Given the description of an element on the screen output the (x, y) to click on. 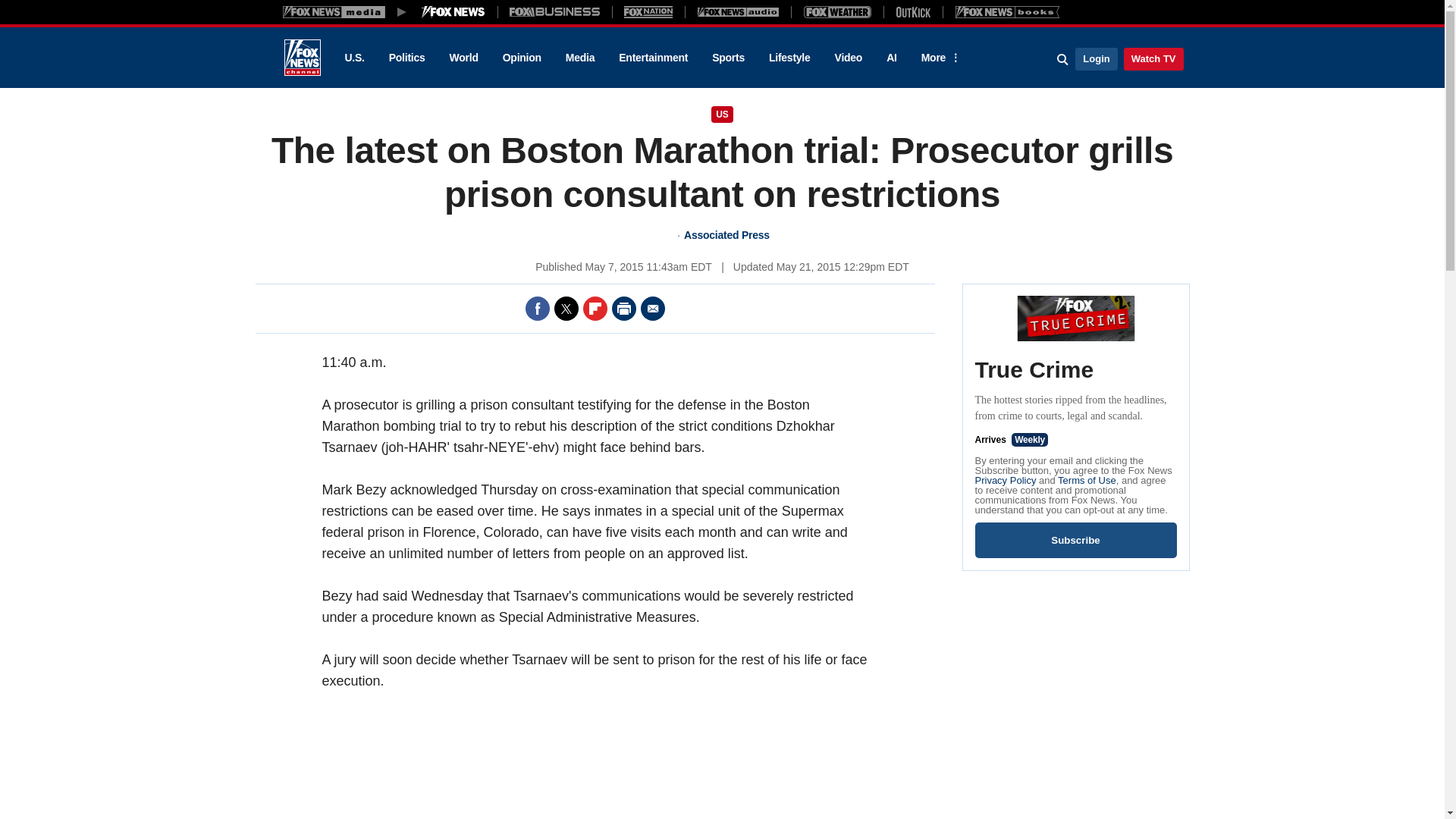
Watch TV (1153, 58)
Fox News Audio (737, 11)
Video (848, 57)
Books (1007, 11)
Opinion (521, 57)
Login (1095, 58)
Fox News Media (453, 11)
Fox Weather (836, 11)
Fox Nation (648, 11)
Entertainment (653, 57)
AI (891, 57)
Sports (728, 57)
Media (580, 57)
Outkick (912, 11)
Fox News (301, 57)
